Given the description of an element on the screen output the (x, y) to click on. 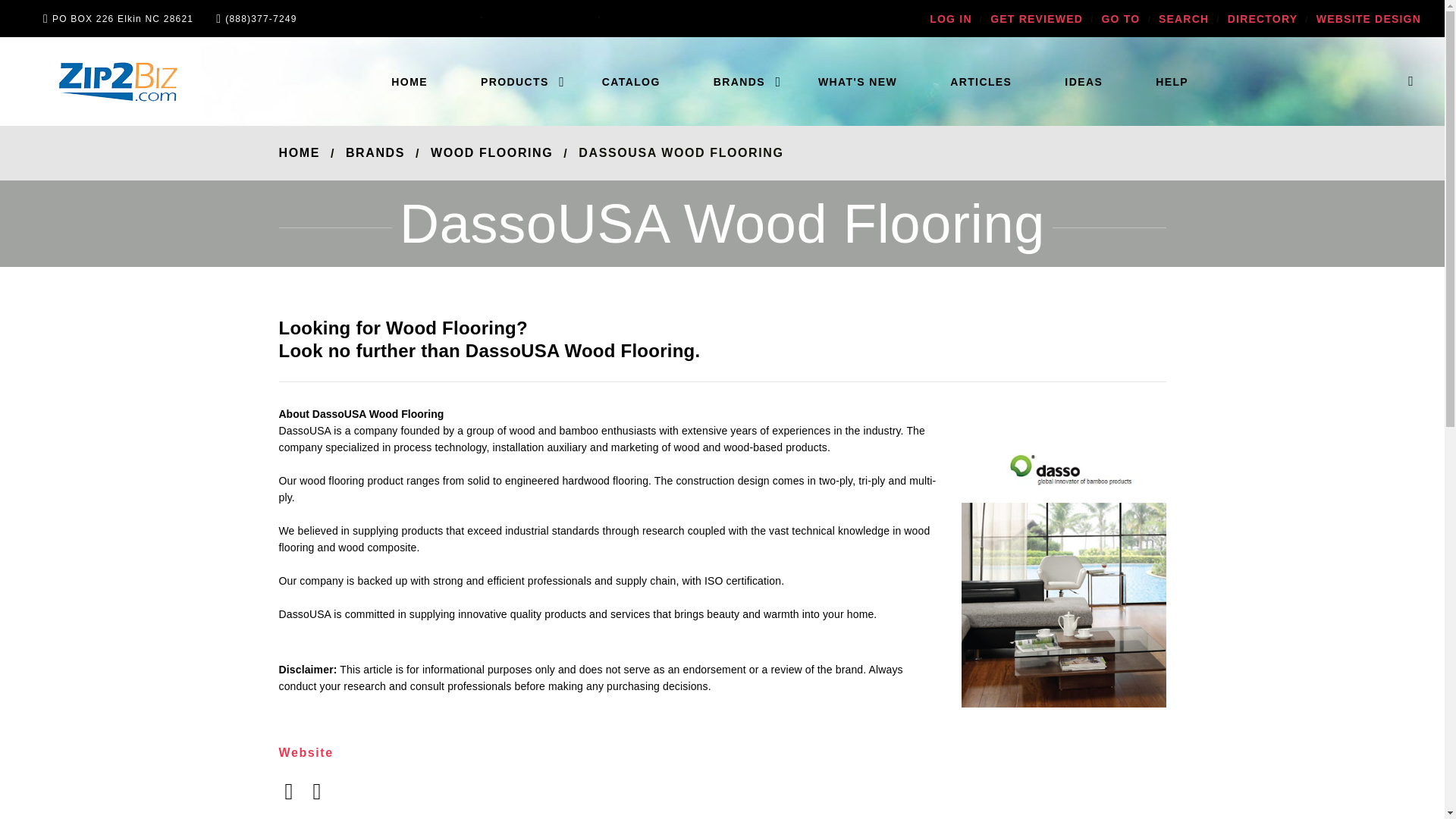
Flooring store website (1368, 19)
GET REVIEWED (1036, 19)
Index of Flooring Products (514, 82)
WEBSITE DESIGN (1368, 19)
SEARCH (1183, 19)
Flooring Stores Near Me (409, 82)
BRANDS (739, 82)
CATALOG (631, 82)
Retail Flooring Directory (1262, 19)
Search Zip2Biz.com (1183, 19)
